Given the description of an element on the screen output the (x, y) to click on. 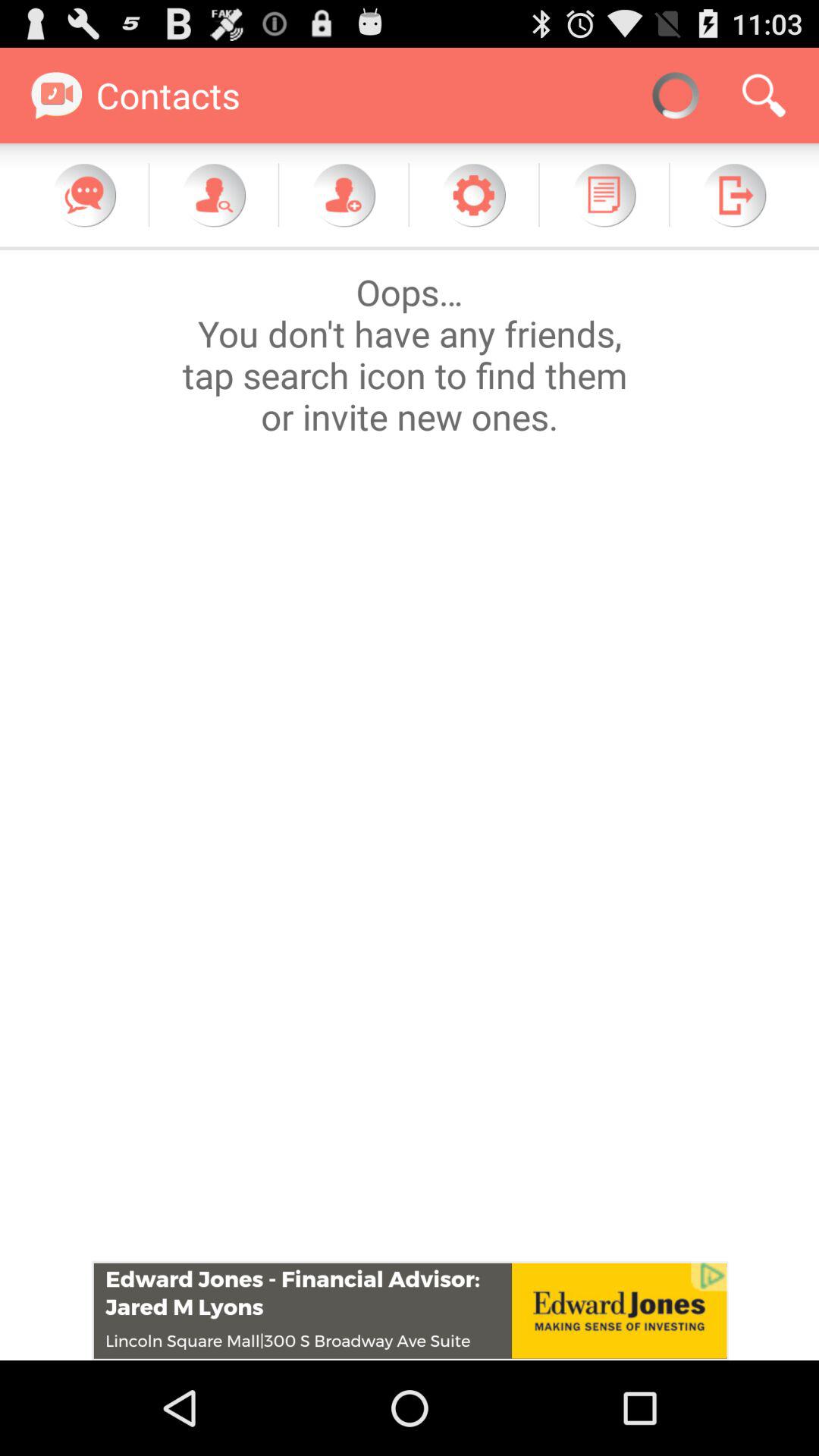
view the advertisement (409, 1310)
